Given the description of an element on the screen output the (x, y) to click on. 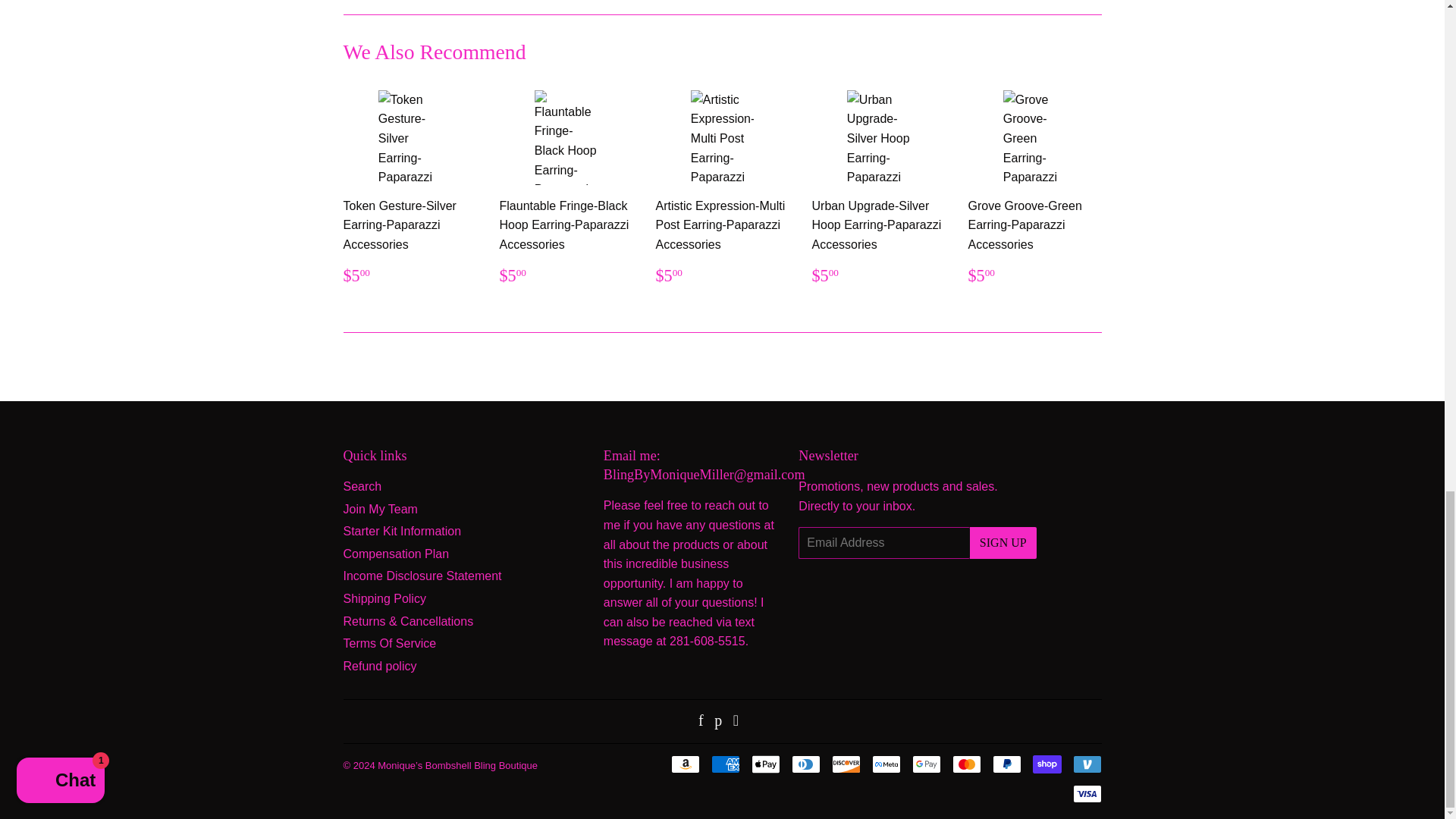
Shop Pay (1046, 764)
Meta Pay (886, 764)
Mastercard (966, 764)
Diners Club (806, 764)
American Express (725, 764)
Amazon (683, 764)
PayPal (1005, 764)
Venmo (1085, 764)
Discover (845, 764)
Visa (1085, 793)
Apple Pay (764, 764)
Google Pay (925, 764)
